Given the description of an element on the screen output the (x, y) to click on. 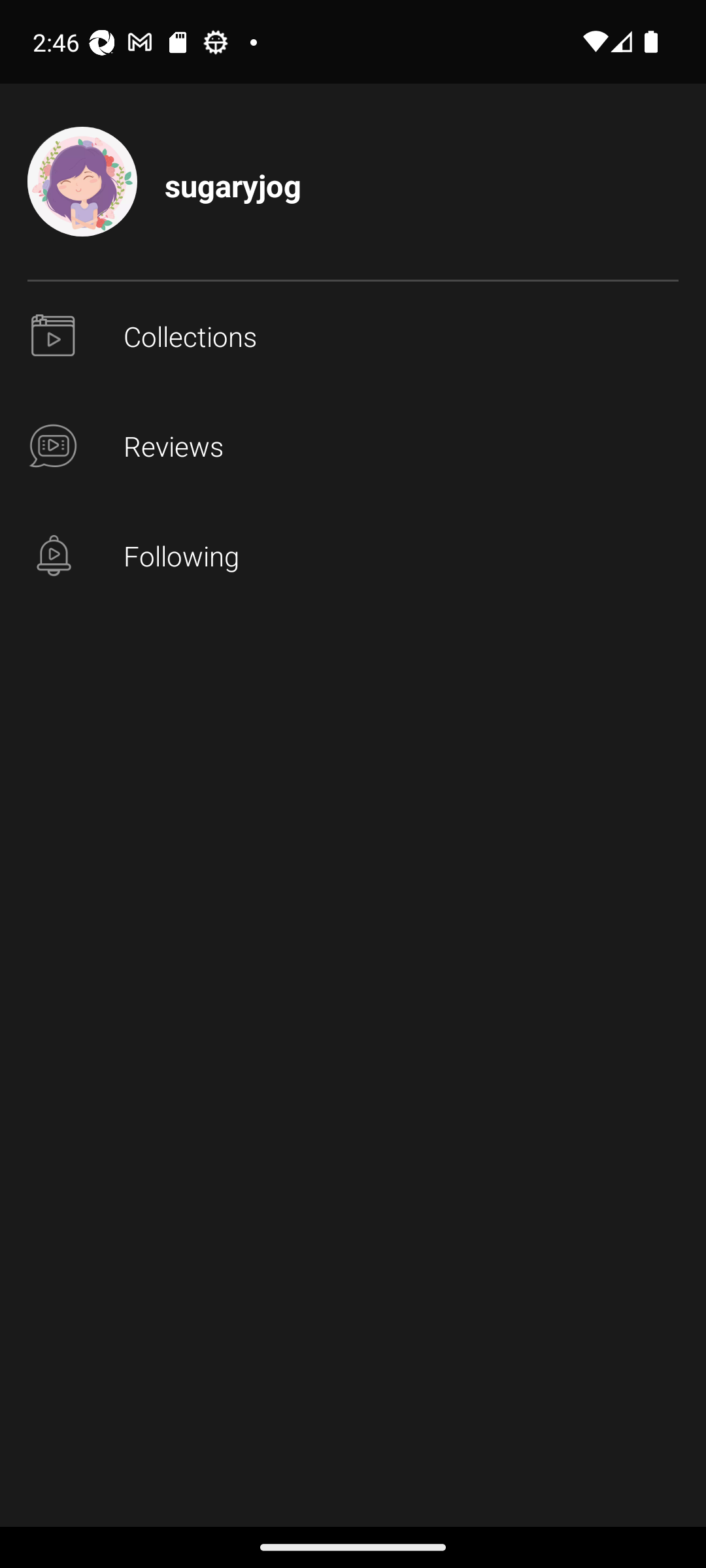
profile_page_user_collections Collections (353, 337)
Reviews (353, 446)
Following (353, 556)
